Given the description of an element on the screen output the (x, y) to click on. 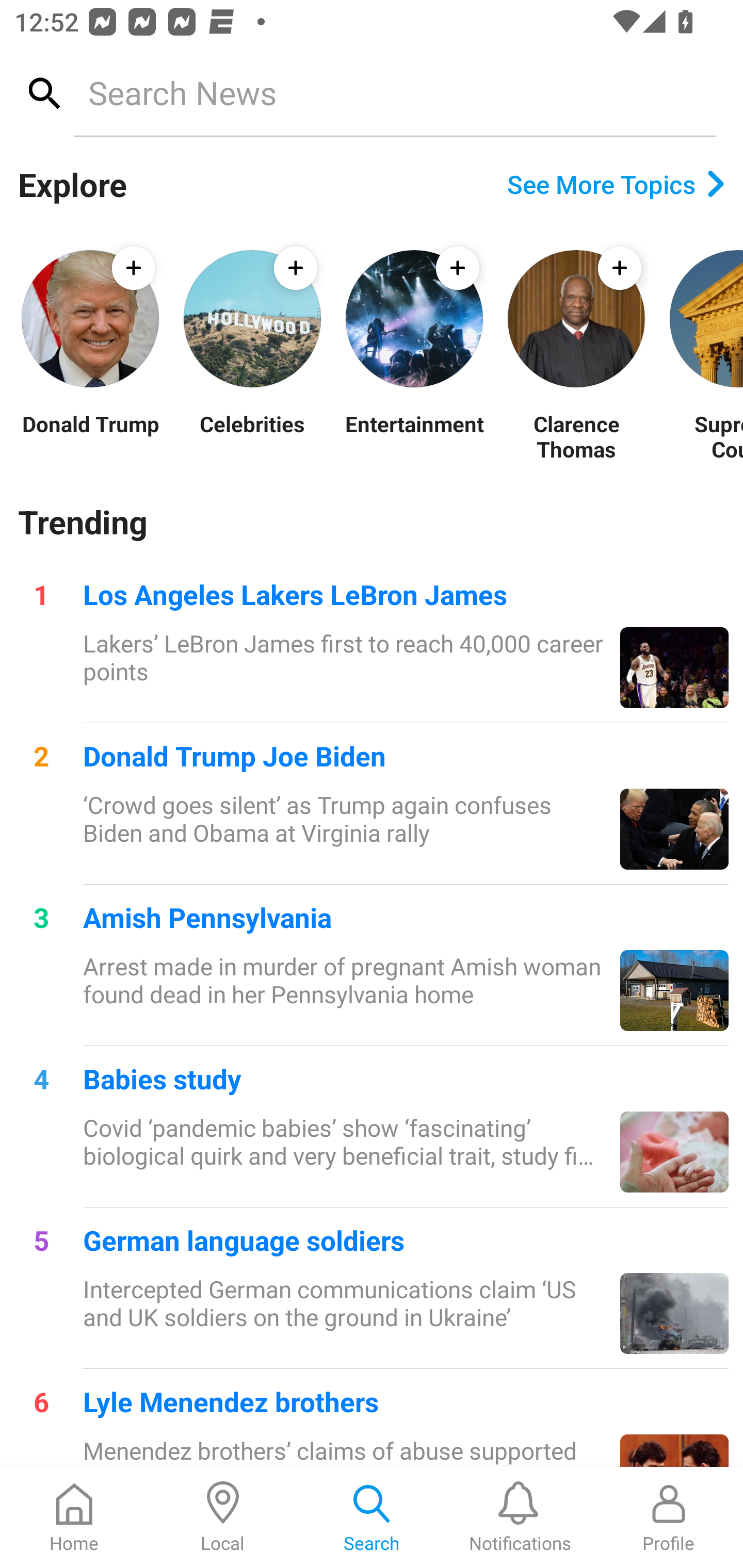
Search News (394, 92)
See More Topics (616, 183)
Donald Trump (89, 436)
Celebrities (251, 436)
Entertainment (413, 436)
Clarence Thomas (575, 436)
Home (74, 1517)
Local (222, 1517)
Notifications (519, 1517)
Profile (668, 1517)
